Given the description of an element on the screen output the (x, y) to click on. 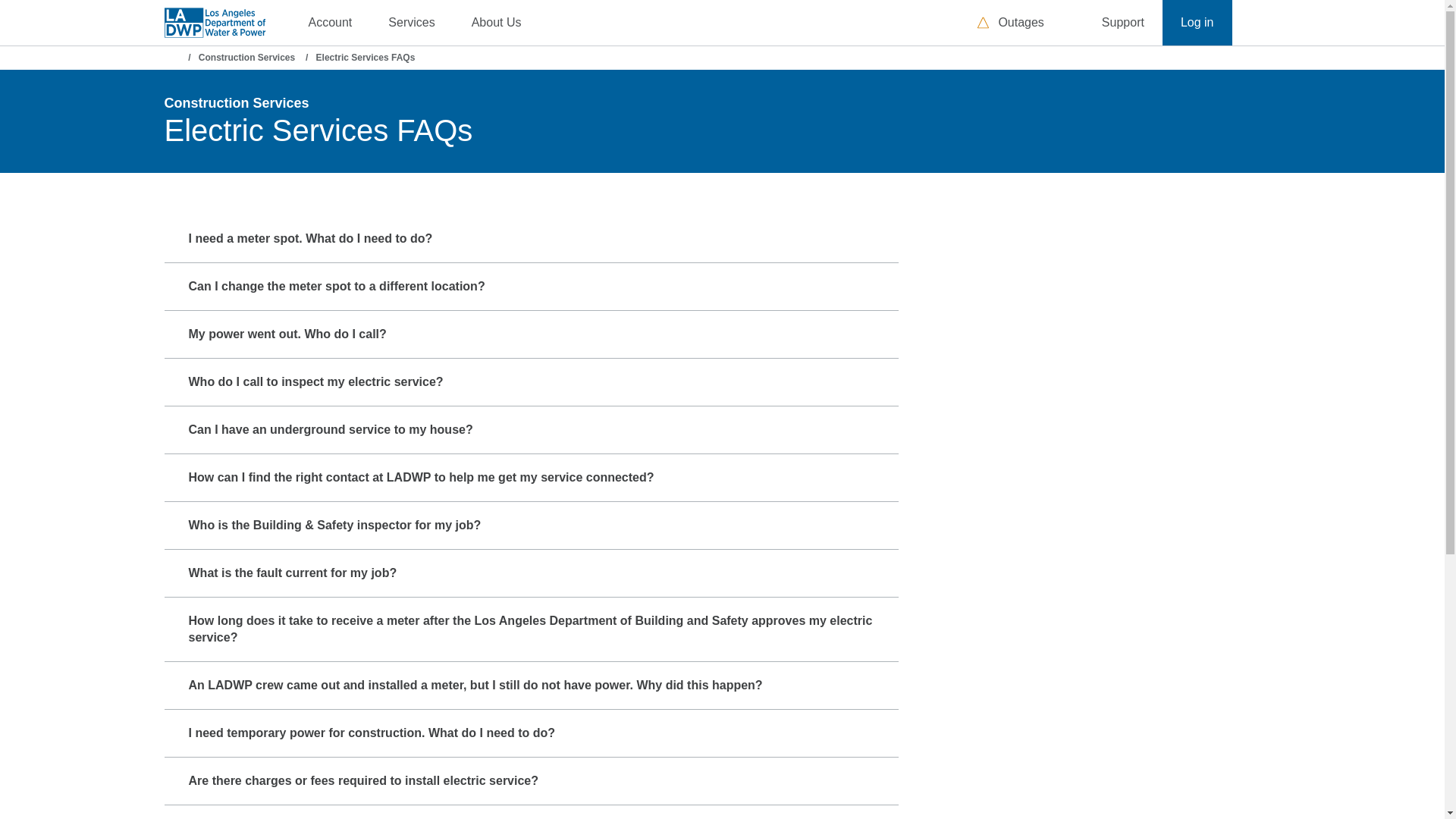
About Us (496, 22)
Services (410, 22)
Account (329, 22)
